Given the description of an element on the screen output the (x, y) to click on. 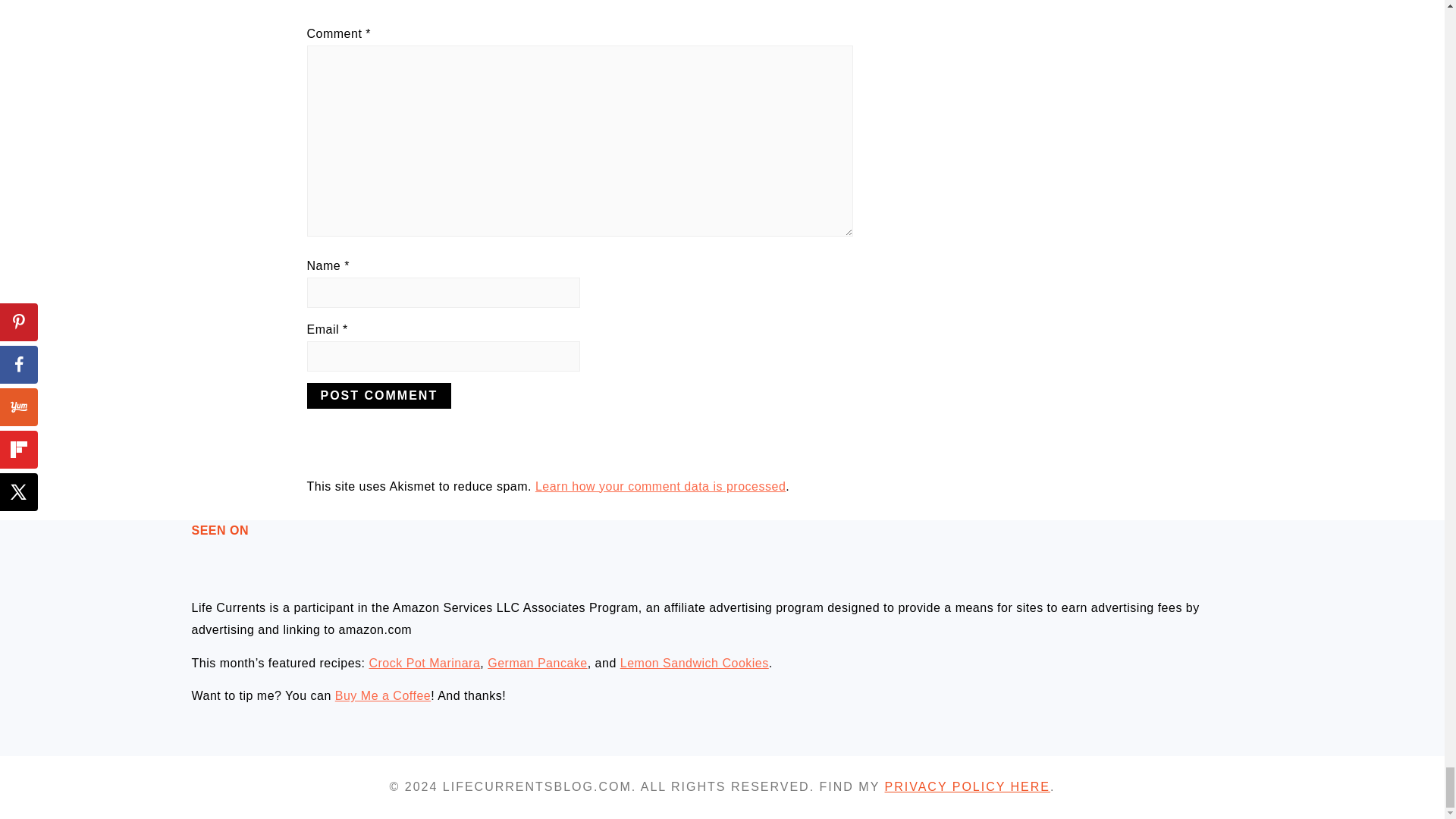
Post Comment (378, 395)
